Given the description of an element on the screen output the (x, y) to click on. 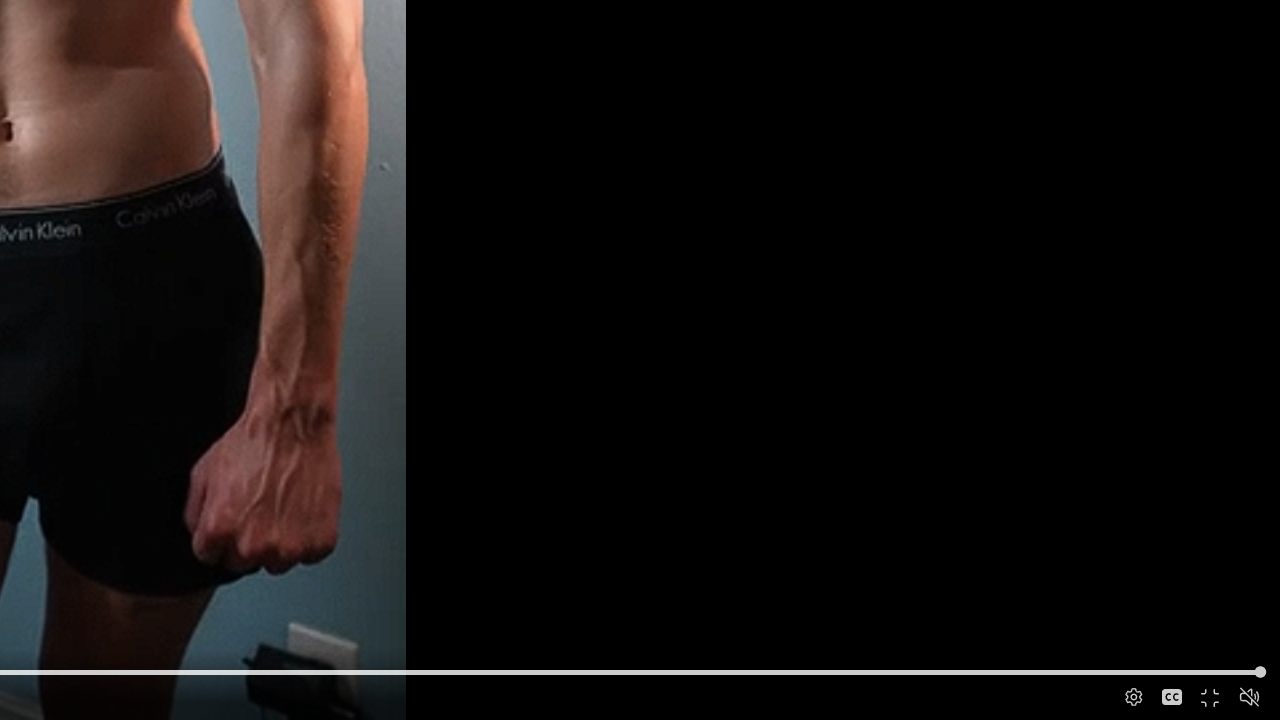
Quality Settings (1132, 697)
Unmute (1249, 696)
Non-Fullscreen (1211, 697)
Captions (1171, 697)
